Given the description of an element on the screen output the (x, y) to click on. 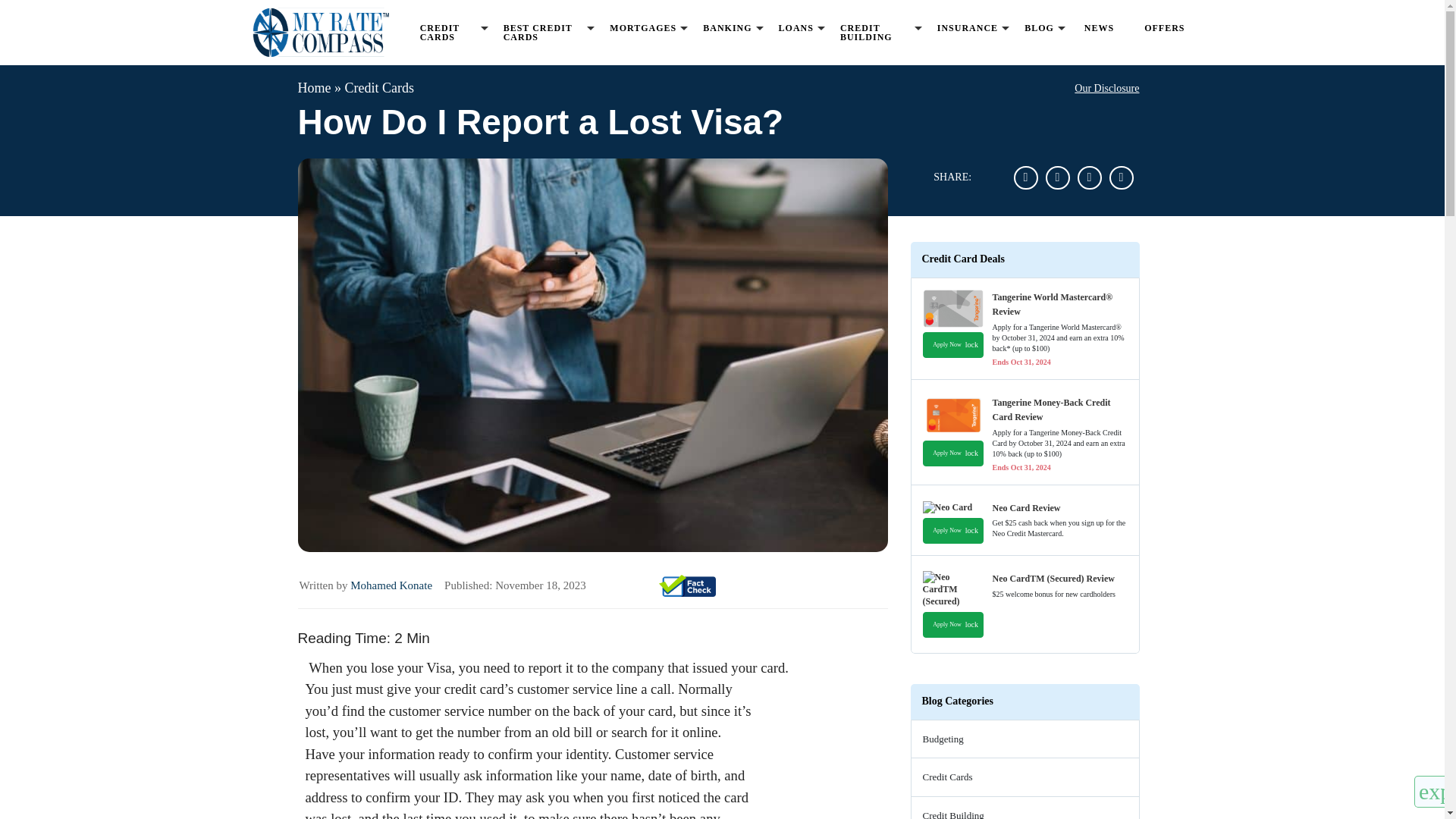
CREDIT CARDS (450, 31)
BEST CREDIT CARDS (545, 31)
Neo Card (951, 506)
Tangerine Money-Back Credit Card (951, 415)
